Given the description of an element on the screen output the (x, y) to click on. 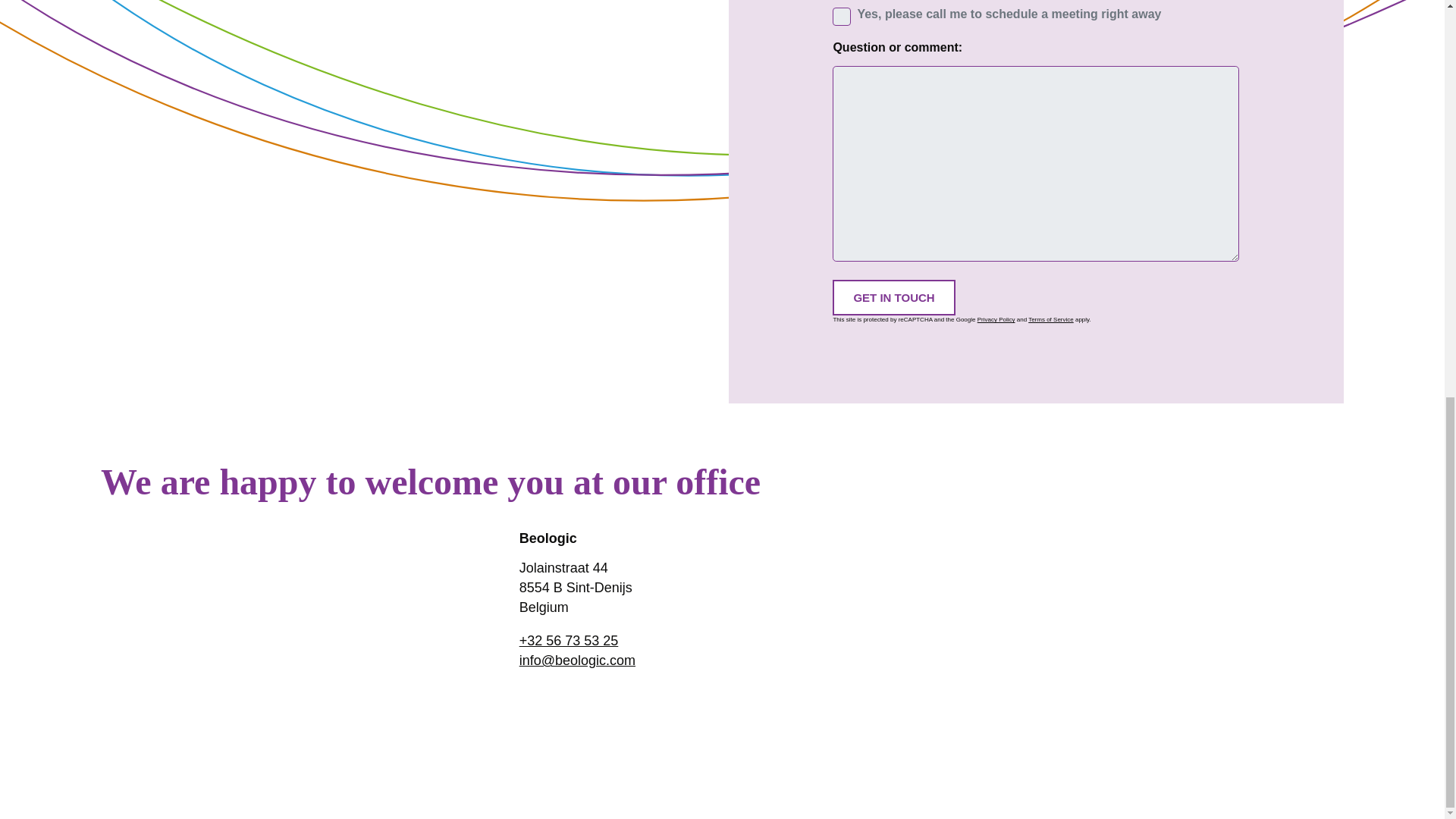
Terms of Service (1050, 319)
Get in touch (893, 297)
Get in touch (893, 297)
Privacy Policy (995, 319)
